Given the description of an element on the screen output the (x, y) to click on. 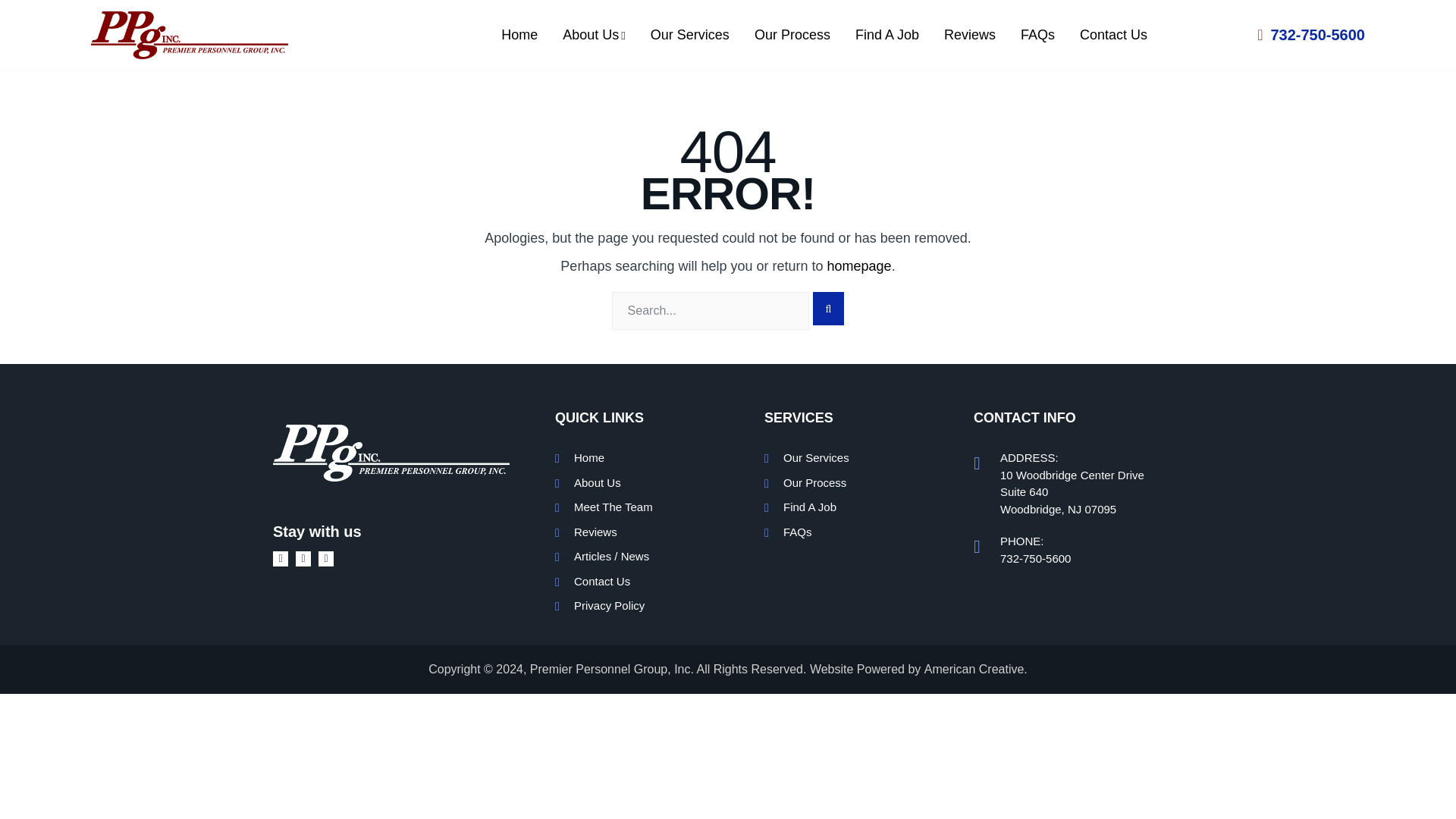
Find A Job (887, 35)
Our Process (814, 481)
Find A Job (809, 506)
LinkedIn (329, 558)
About Us (593, 35)
Twitter (306, 558)
Our Services (815, 457)
Home (588, 457)
Privacy Policy (609, 604)
Reviews (595, 531)
732-750-5600 (1035, 558)
FAQs (797, 531)
Facebook (284, 558)
Home (524, 35)
homepage (859, 265)
